Given the description of an element on the screen output the (x, y) to click on. 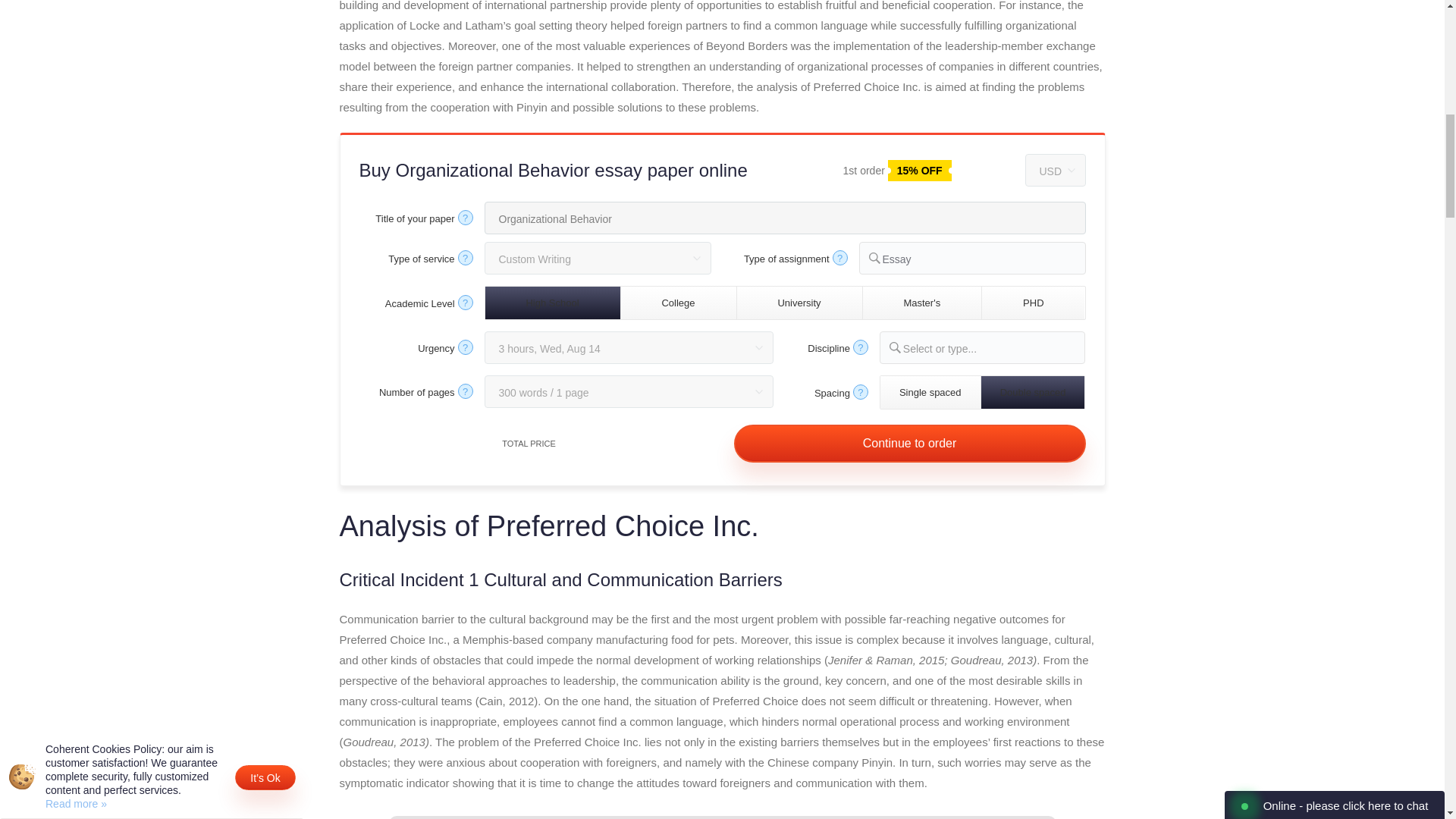
Continue to order (909, 443)
Select or type... (993, 348)
Essay (983, 259)
Organizational Behavior (783, 217)
15 (830, 168)
